Given the description of an element on the screen output the (x, y) to click on. 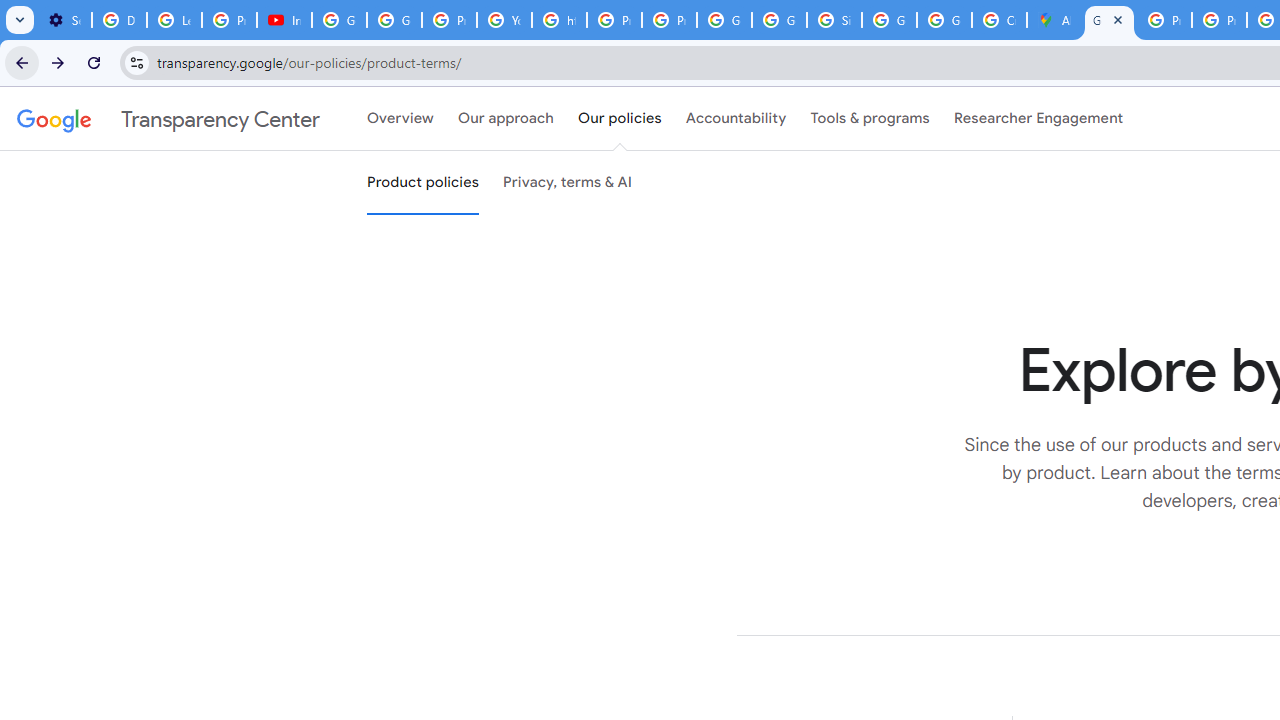
YouTube (504, 20)
View site information (136, 62)
Settings - Performance (64, 20)
Researcher Engagement (1038, 119)
Privacy Help Center - Policies Help (614, 20)
Privacy, terms & AI (568, 183)
